Given the description of an element on the screen output the (x, y) to click on. 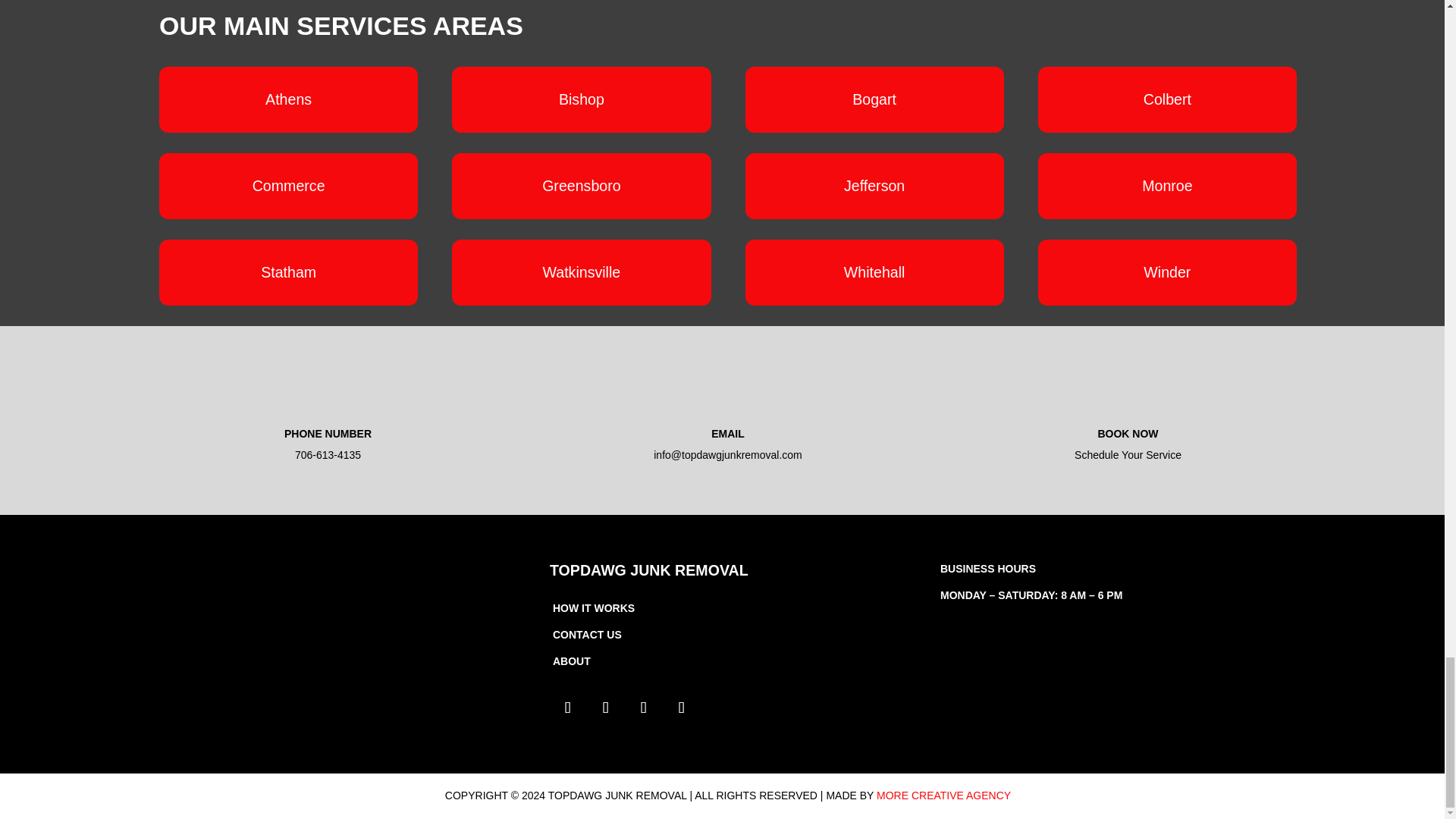
Follow on Google (673, 699)
Follow on Facebook (559, 699)
Follow on Instagram (596, 699)
4. TD alternate design (245, 651)
Follow on Yelp (635, 699)
